Given the description of an element on the screen output the (x, y) to click on. 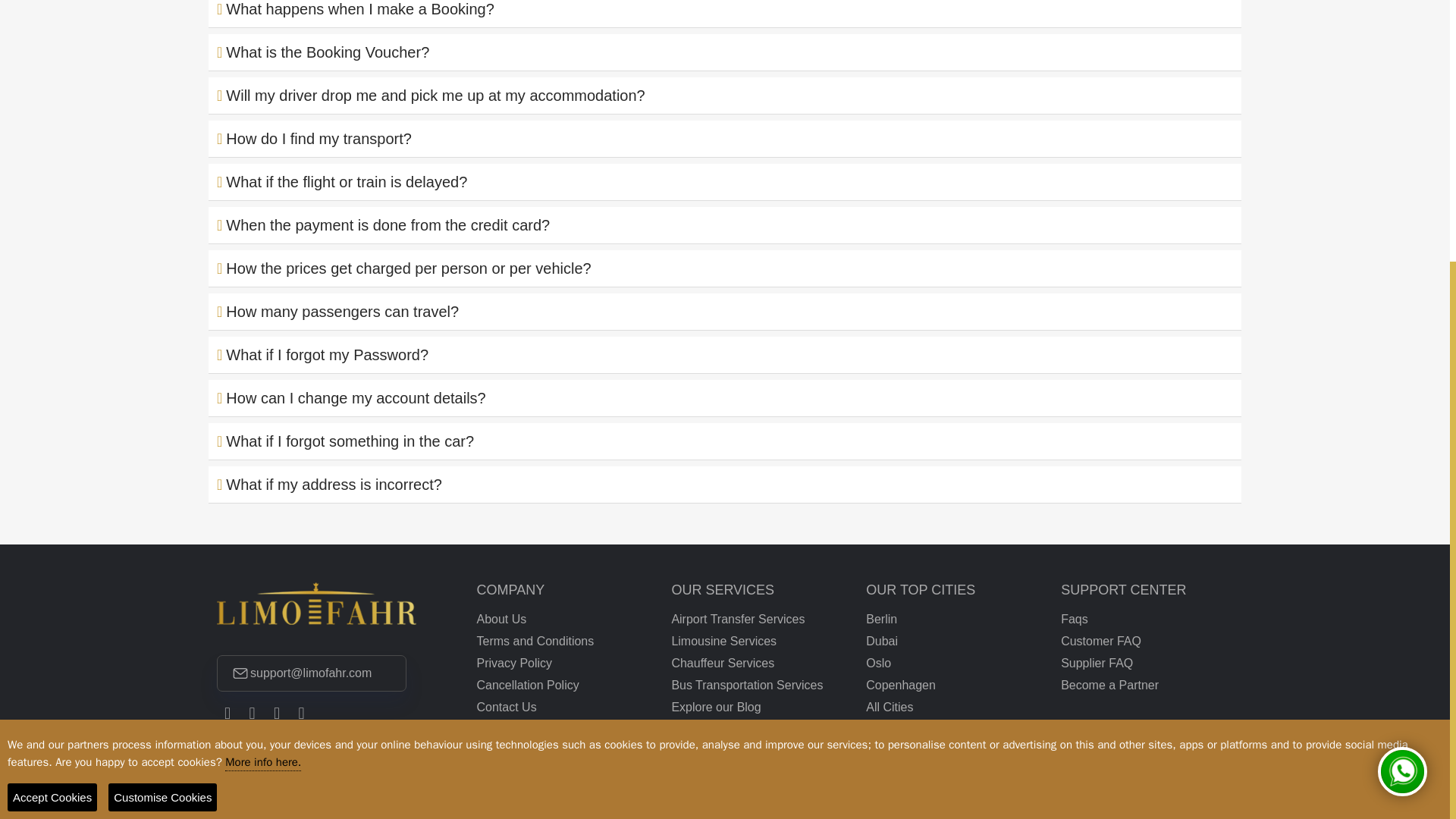
How do I find my transport? (724, 138)
What is the Booking Voucher? (724, 52)
What if the flight or train is delayed? (724, 181)
What if I forgot my Password? (724, 354)
How many passengers can travel? (724, 311)
What if I forgot something in the car? (724, 441)
How can I change my account details? (724, 398)
What happens when I make a Booking? (724, 13)
What if my address is incorrect? (724, 484)
How the prices get charged per person or per vehicle? (724, 268)
When the payment is done from the credit card? (724, 225)
Will my driver drop me and pick me up at my accommodation? (724, 94)
